Given the description of an element on the screen output the (x, y) to click on. 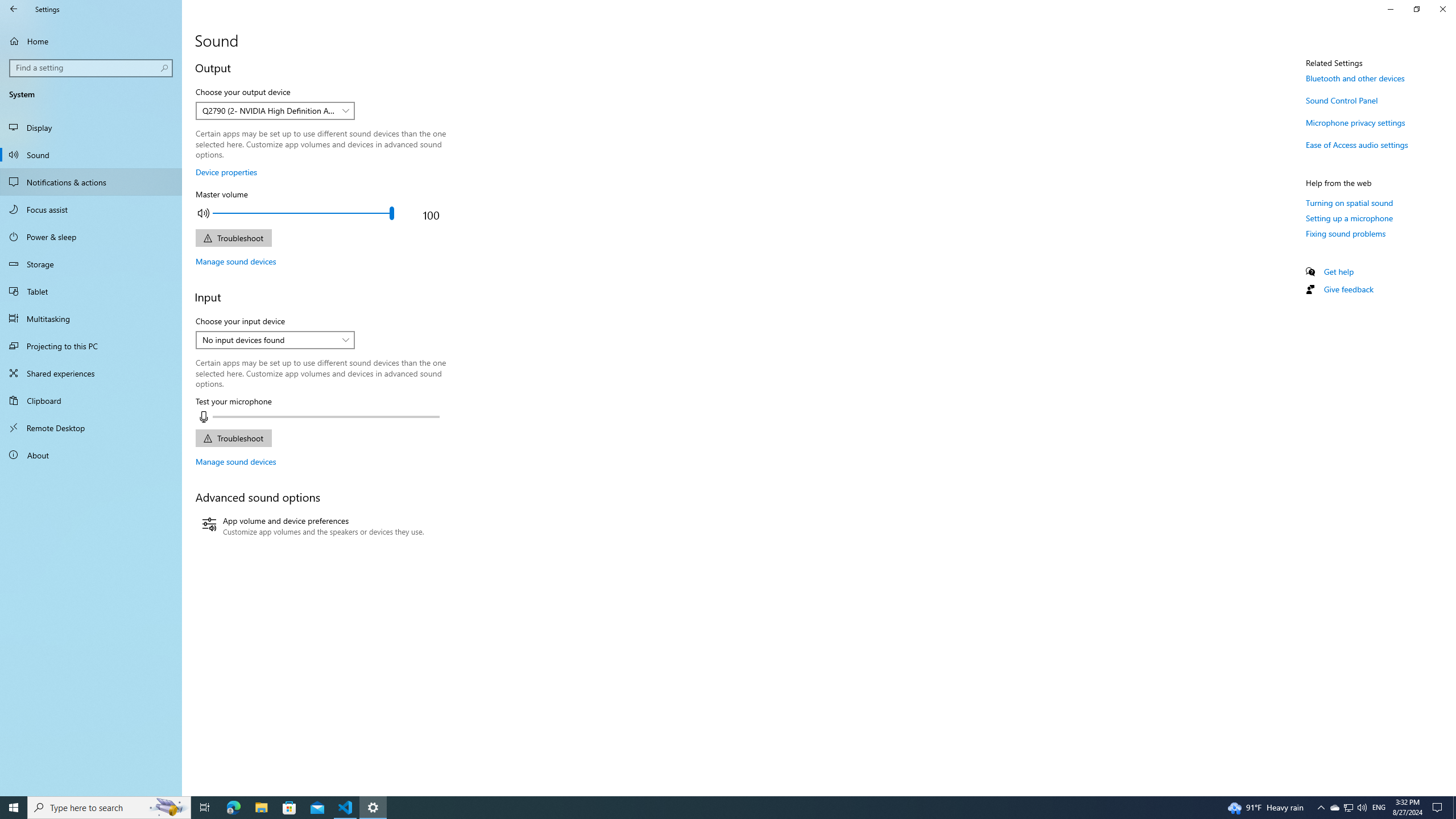
Restore Settings (1416, 9)
Microphone privacy settings (1355, 122)
Running applications (706, 807)
Notifications & actions (91, 181)
Notification Chevron (1320, 807)
Turning on spatial sound (1349, 202)
Sound (91, 154)
No input devices found (269, 339)
Settings - 1 running window (373, 807)
App volume and device preferences (312, 526)
Type here to search (108, 807)
Device properties (226, 171)
Remote Desktop (91, 427)
Tray Input Indicator - English (United States) (1378, 807)
Give feedback (1348, 289)
